Given the description of an element on the screen output the (x, y) to click on. 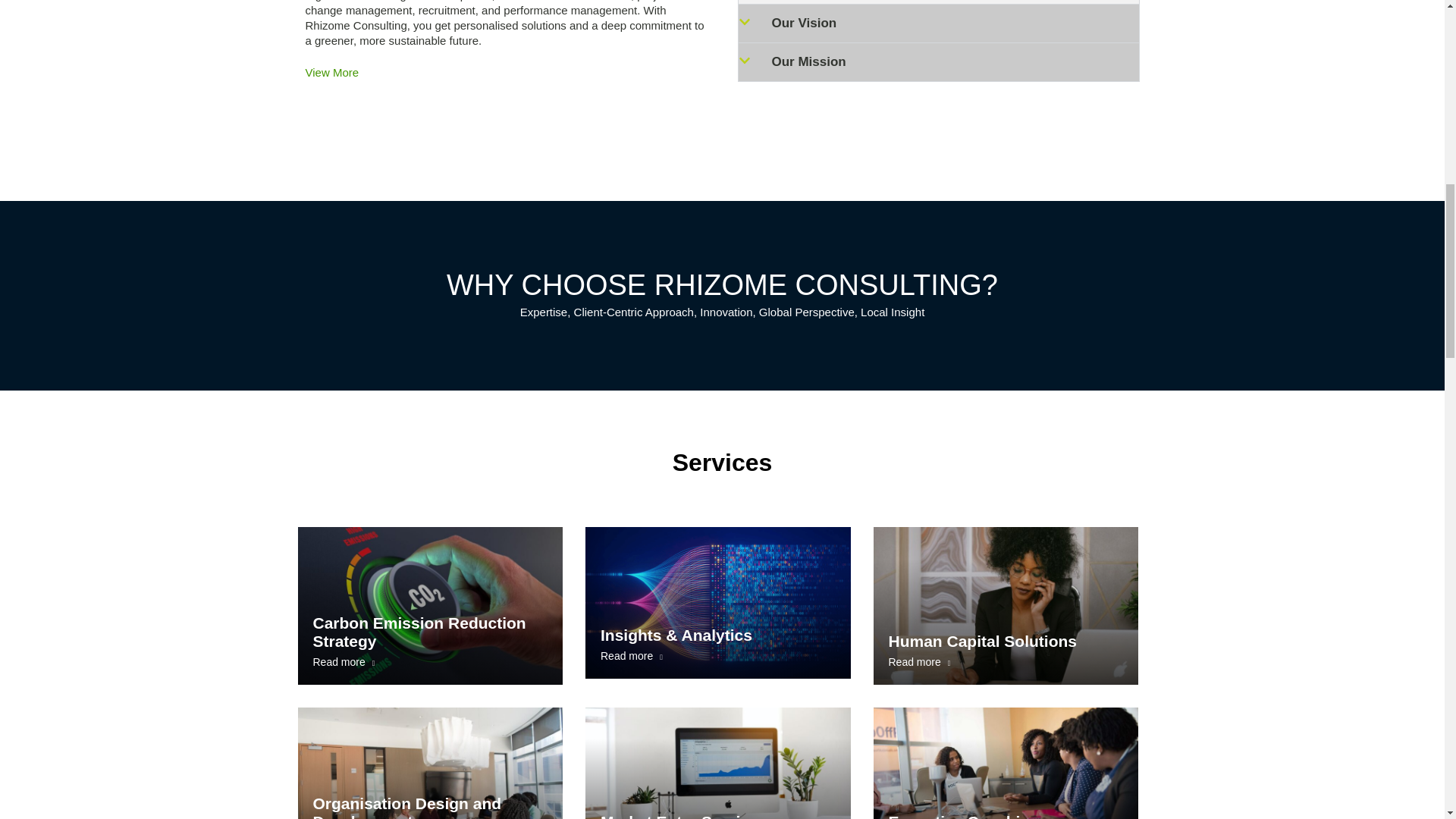
Our Vision (804, 22)
Data-vs-Analytics-vs-Insights-banner (717, 602)
Carbon Emission Reduction Strategy (429, 605)
pexels-photo-1181435 (429, 763)
View More (429, 763)
pexels-photo-572056 (331, 71)
pexels-photo-3727469 (717, 763)
Our Mission (429, 605)
Operational Excellence (1005, 605)
